Given the description of an element on the screen output the (x, y) to click on. 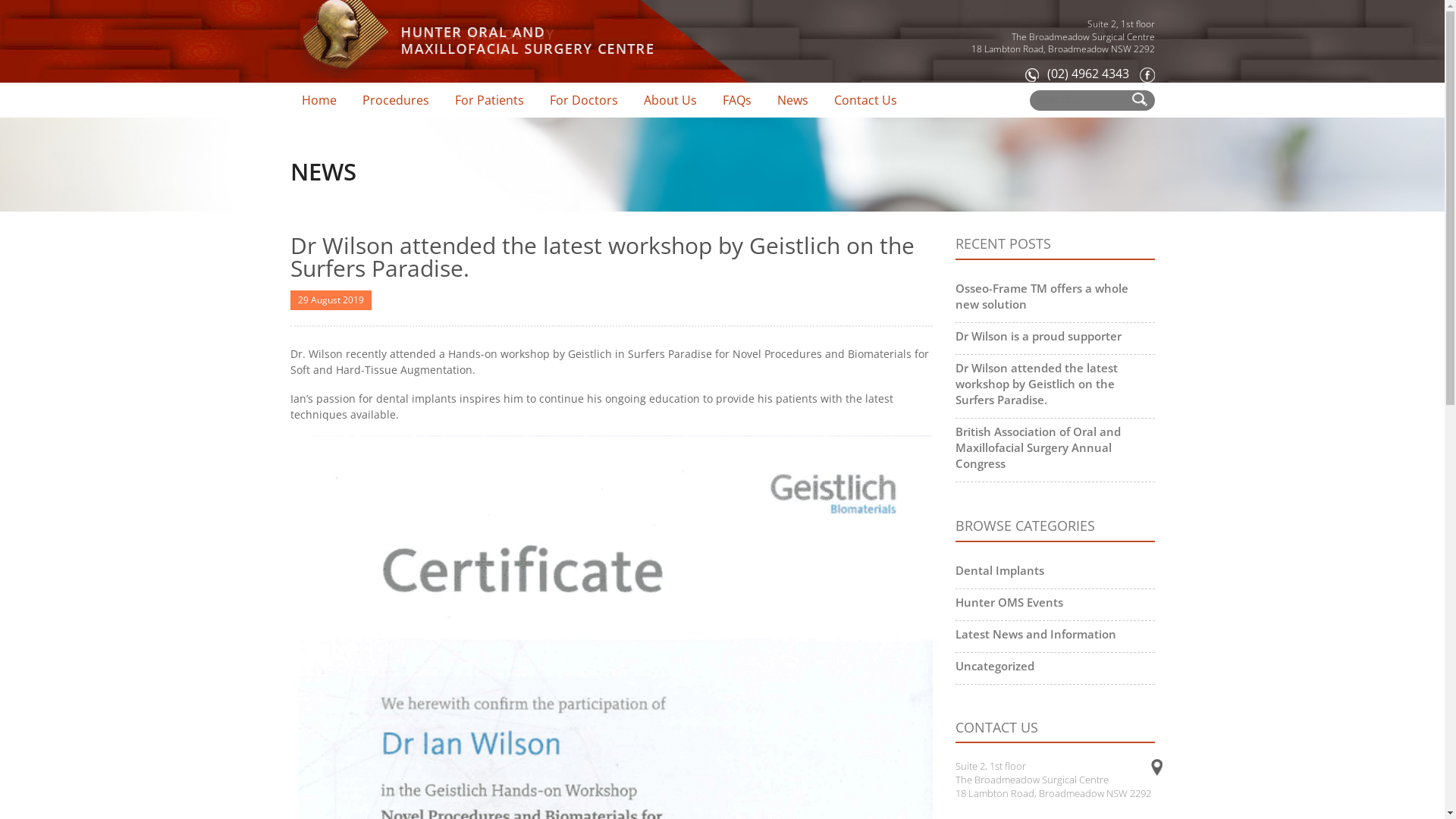
Dental Implants Element type: text (999, 569)
For Patients Element type: text (488, 99)
Uncategorized Element type: text (994, 665)
Hunter OMS Events Element type: text (1009, 601)
For Doctors Element type: text (583, 99)
Latest News and Information Element type: text (1035, 633)
FAQs Element type: text (736, 99)
Procedures Element type: text (394, 99)
Contact Us Element type: text (864, 99)
About Us Element type: text (670, 99)
(02) 4962 4343 Element type: text (1077, 73)
Osseo-Frame TM offers a whole new solution Element type: text (1041, 295)
News Element type: text (792, 99)
Dr Wilson is a proud supporter Element type: text (1038, 335)
Home Element type: text (318, 99)
